Given the description of an element on the screen output the (x, y) to click on. 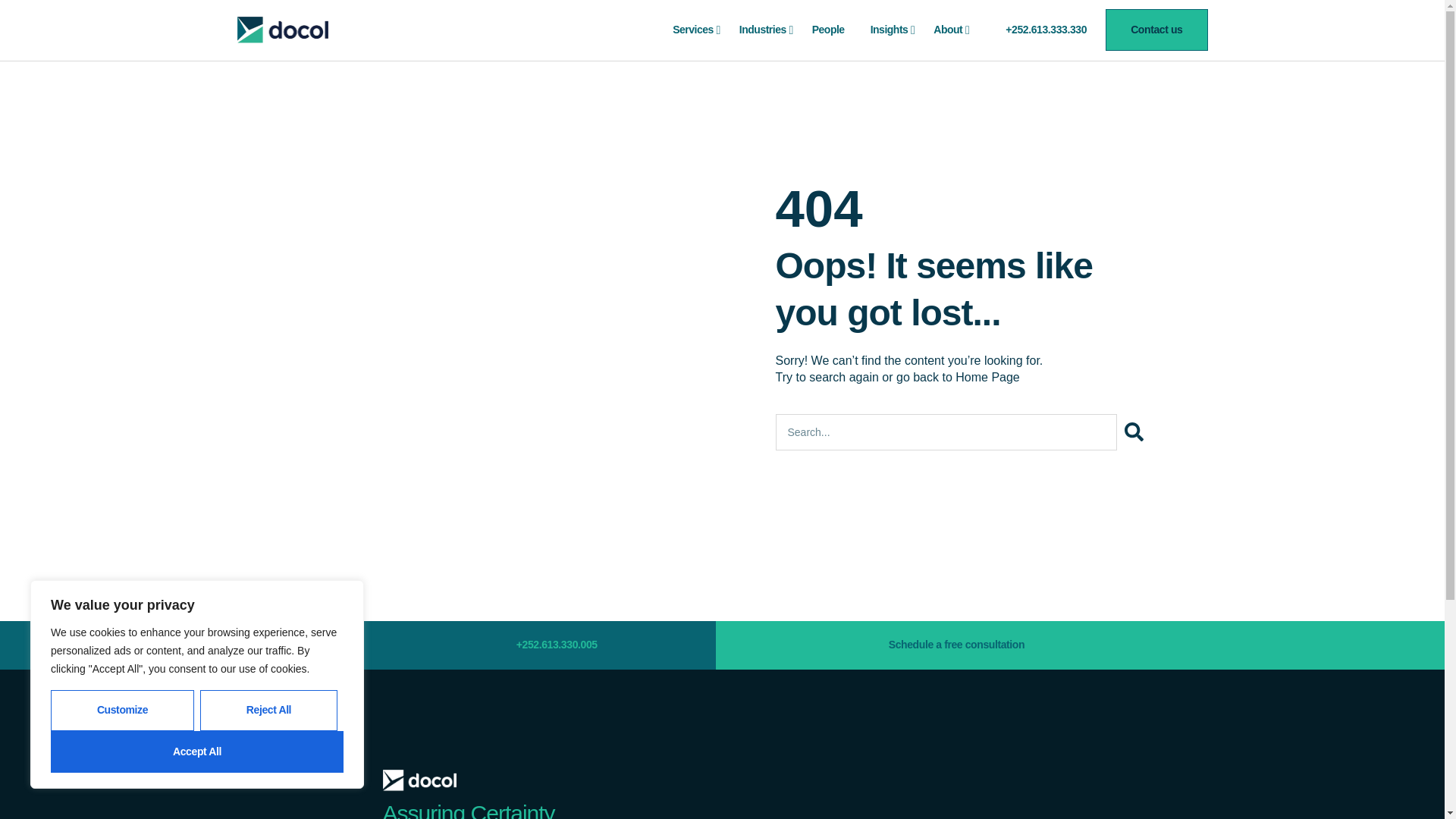
Accept All (196, 752)
Reject All (268, 711)
Customize (121, 711)
